Given the description of an element on the screen output the (x, y) to click on. 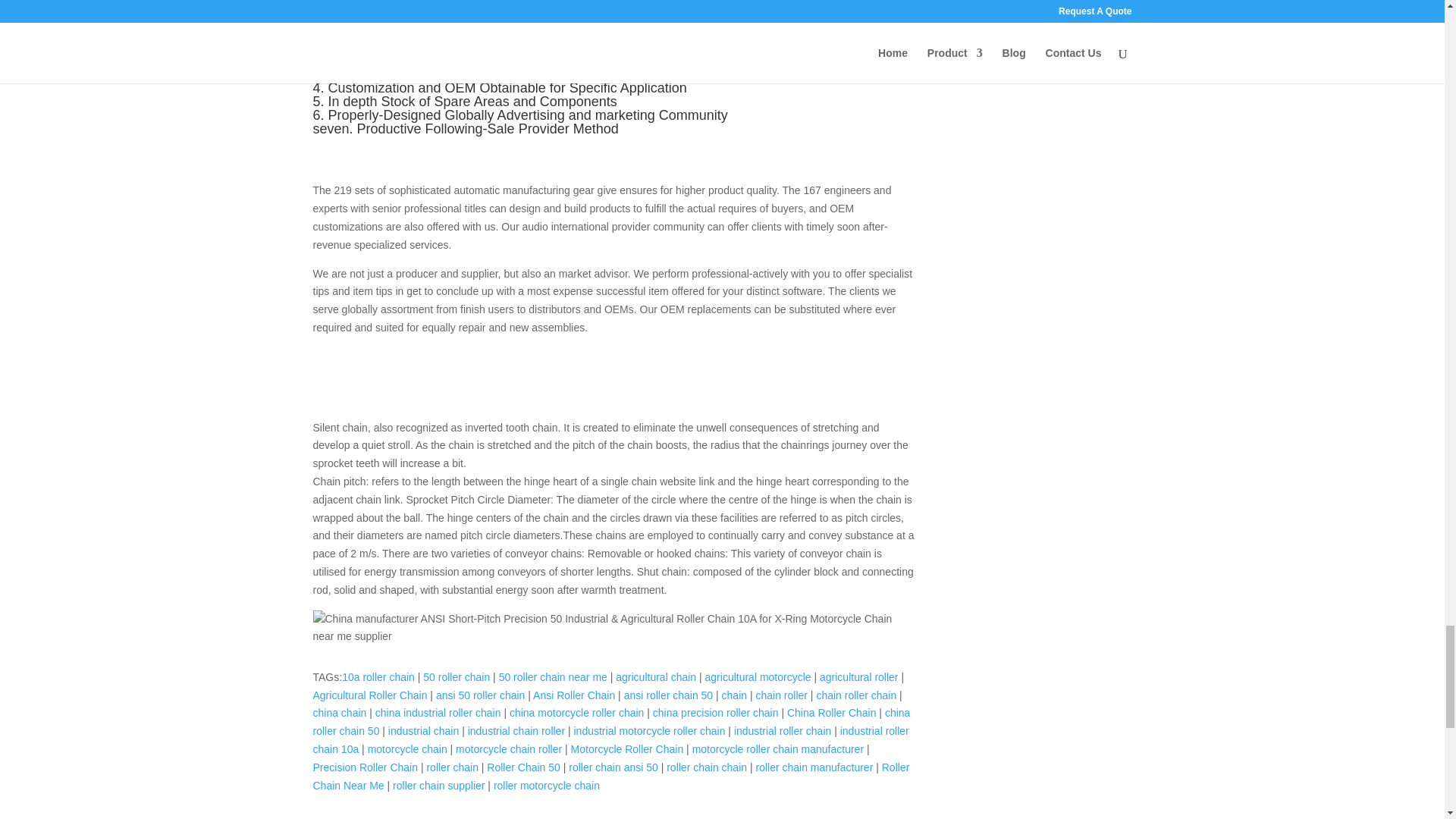
chain roller (780, 695)
china chain (339, 712)
Agricultural Roller Chain (369, 695)
chain (734, 695)
chain roller chain (855, 695)
industrial roller chain 10a (610, 739)
agricultural roller (858, 676)
motorcycle chain roller (508, 748)
Ansi Roller Chain (573, 695)
50 roller chain (456, 676)
Motorcycle Roller Chain (627, 748)
industrial motorcycle roller chain (649, 730)
agricultural motorcycle (757, 676)
10a roller chain (378, 676)
industrial chain roller (515, 730)
